Given the description of an element on the screen output the (x, y) to click on. 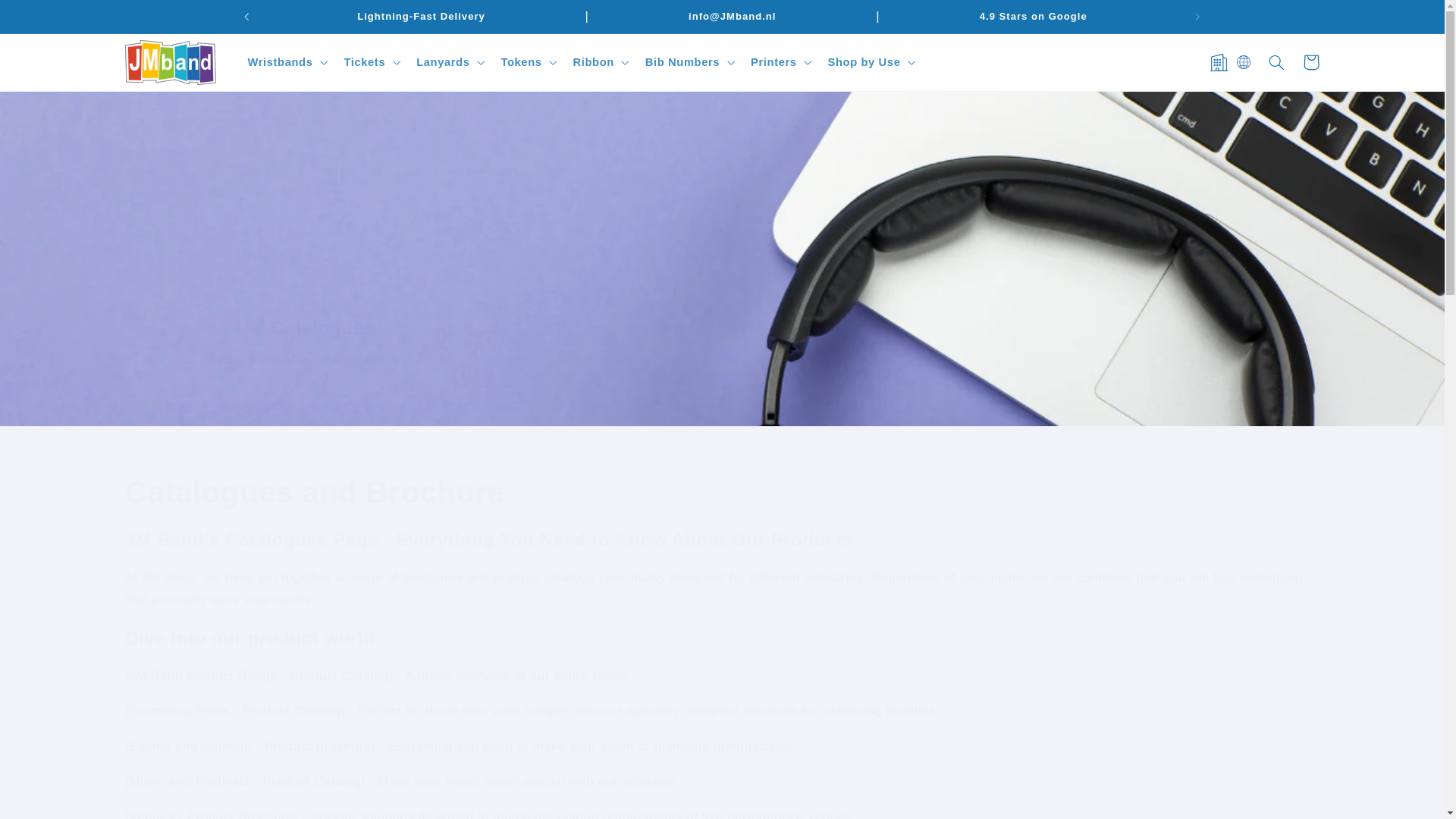
Lightning-Fast Delivery (421, 16)
Skip to content (48, 18)
